Given the description of an element on the screen output the (x, y) to click on. 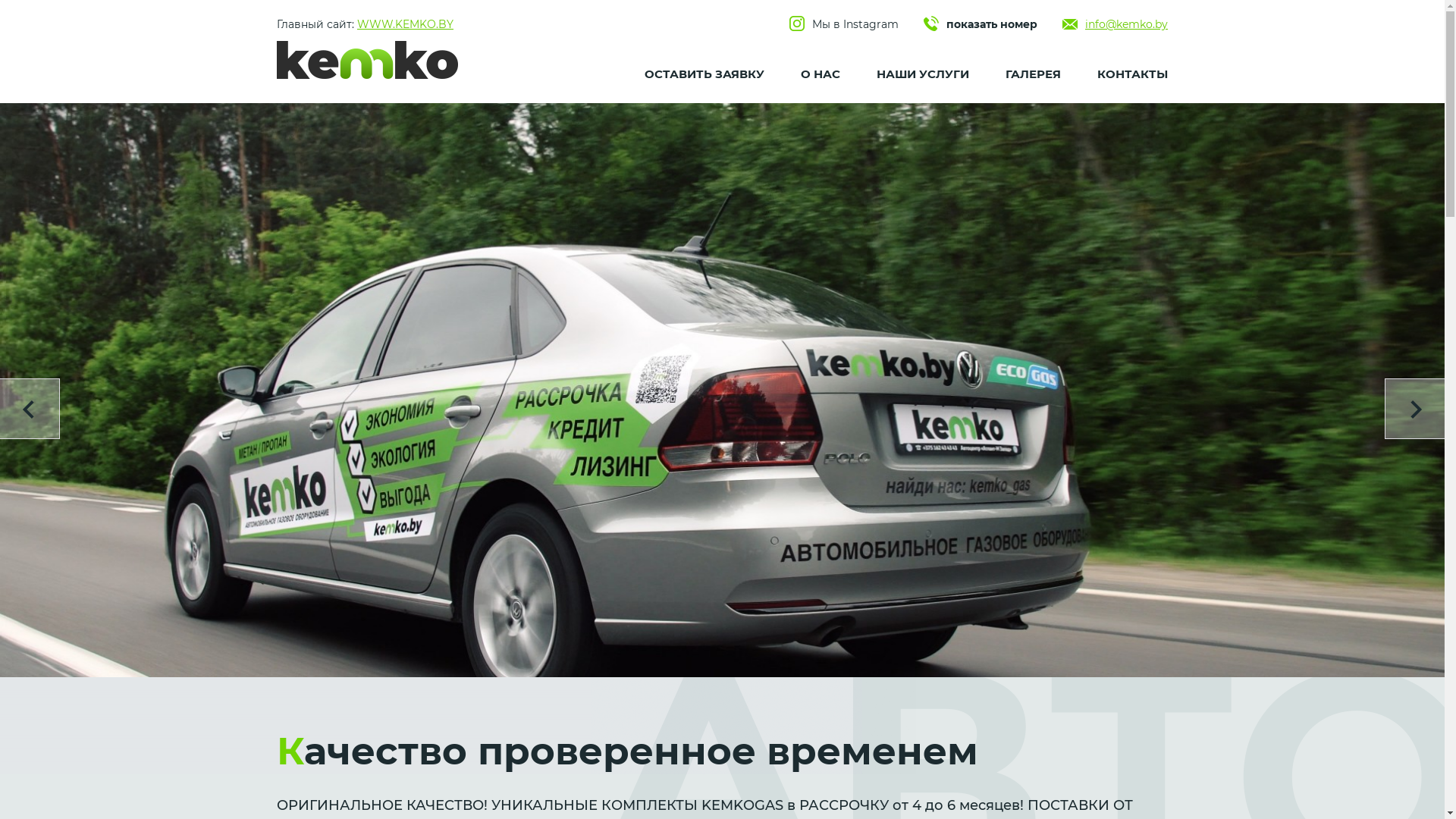
WWW.KEMKO.BY Element type: text (405, 24)
info@kemko.by Element type: text (1114, 24)
